Given the description of an element on the screen output the (x, y) to click on. 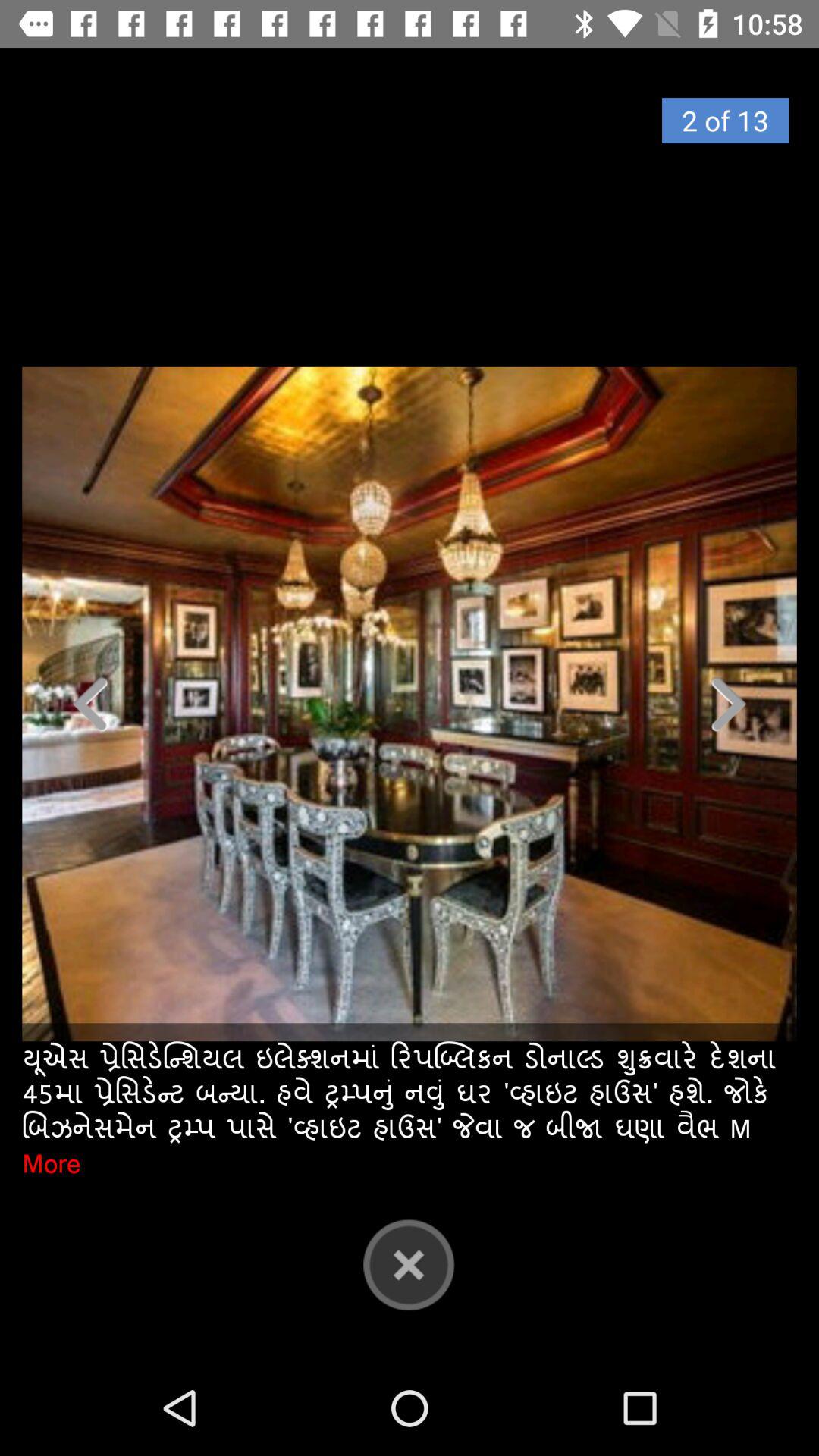
close (409, 1264)
